Given the description of an element on the screen output the (x, y) to click on. 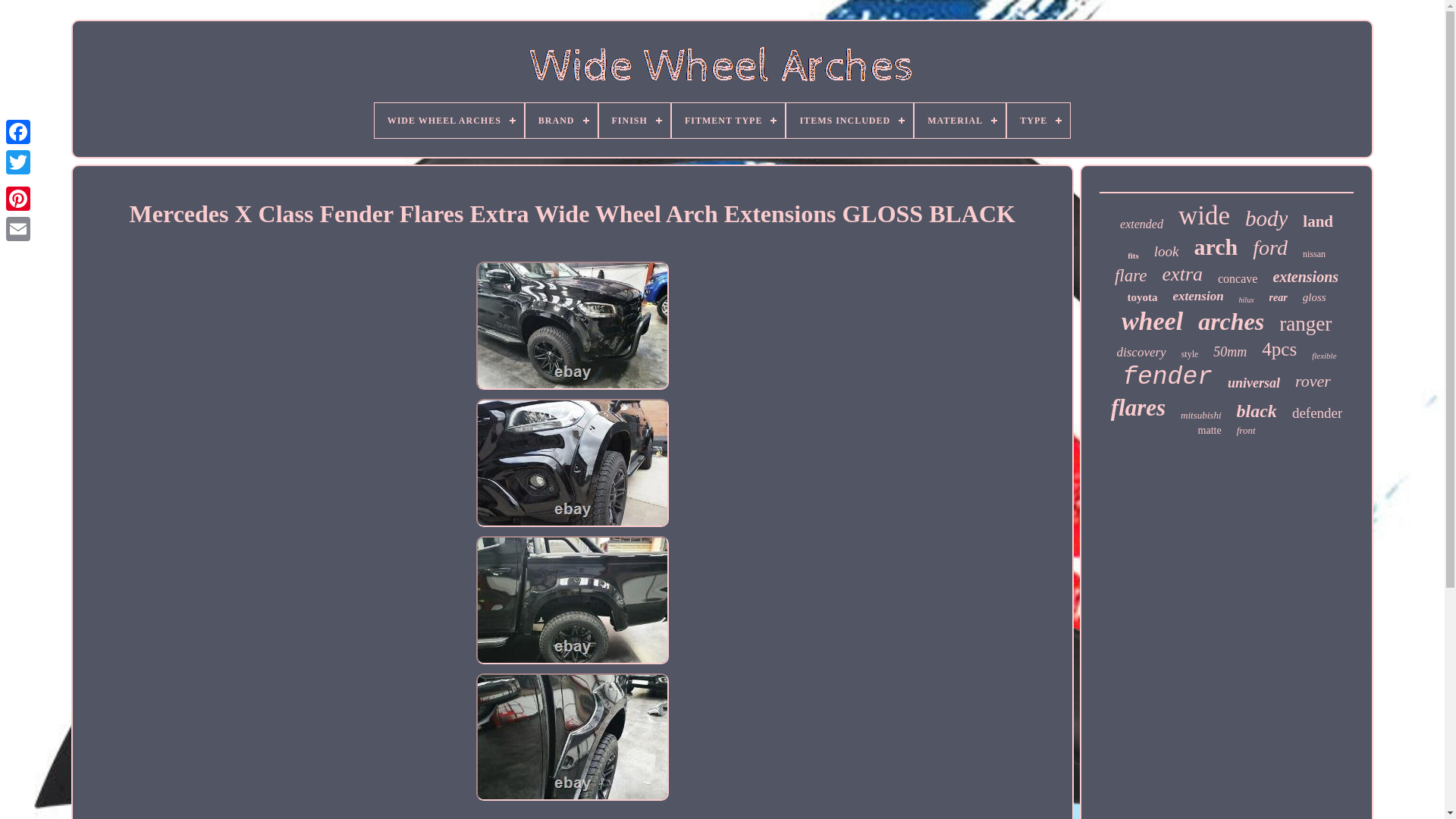
BRAND (560, 120)
WIDE WHEEL ARCHES (449, 120)
FINISH (633, 120)
